Given the description of an element on the screen output the (x, y) to click on. 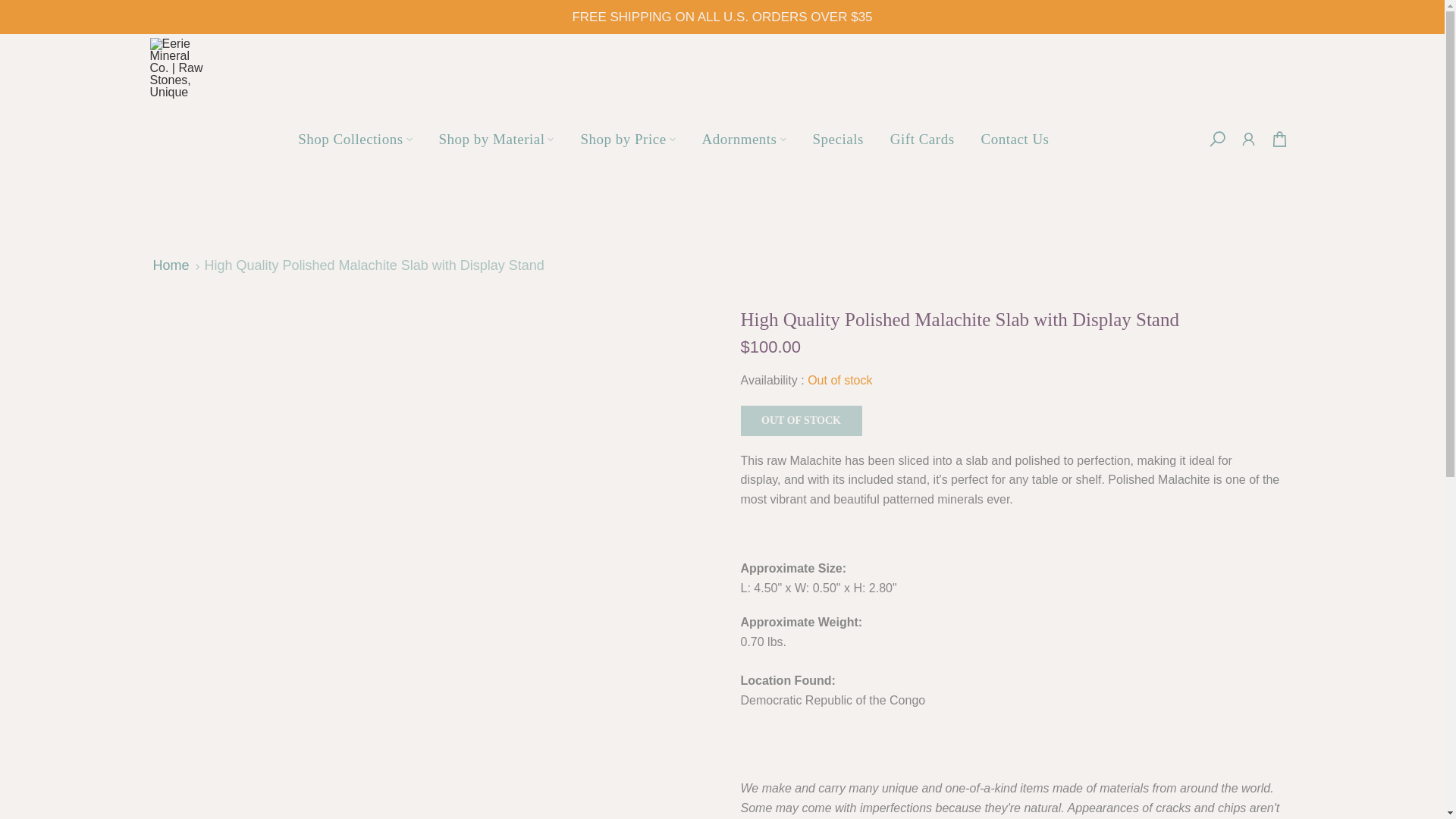
Shop by Material (496, 138)
Shop by Price (627, 138)
Specials (837, 138)
Contact Us (1015, 138)
Home (170, 264)
Gift Cards (922, 138)
Skip to content (10, 7)
OUT OF STOCK (800, 420)
Adornments (743, 138)
Shop Collections (355, 138)
